Given the description of an element on the screen output the (x, y) to click on. 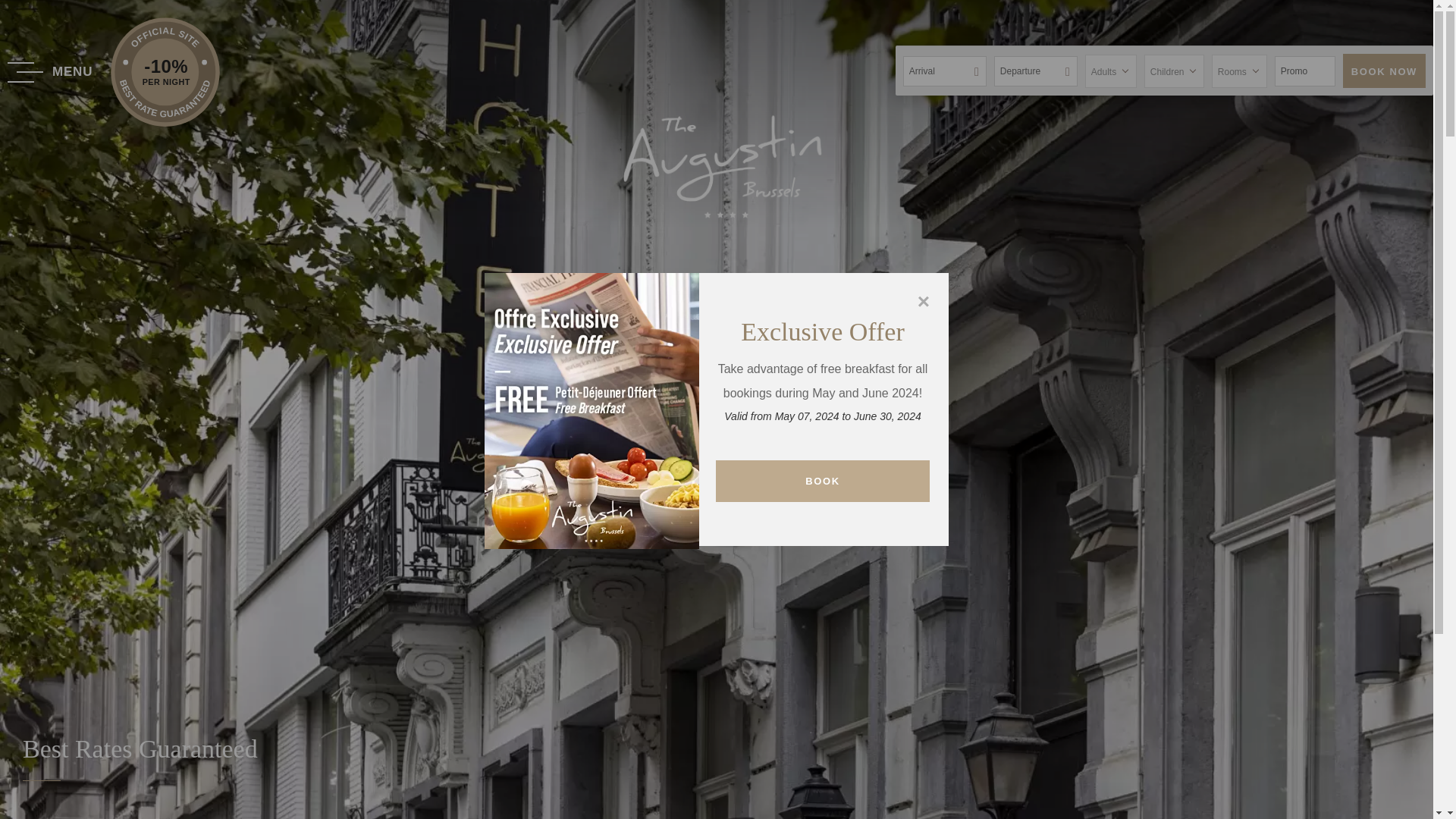
MENU (52, 72)
BOOK NOW (1383, 70)
Departure (1035, 71)
Arrival (944, 71)
BOOK NOW (1383, 70)
